Given the description of an element on the screen output the (x, y) to click on. 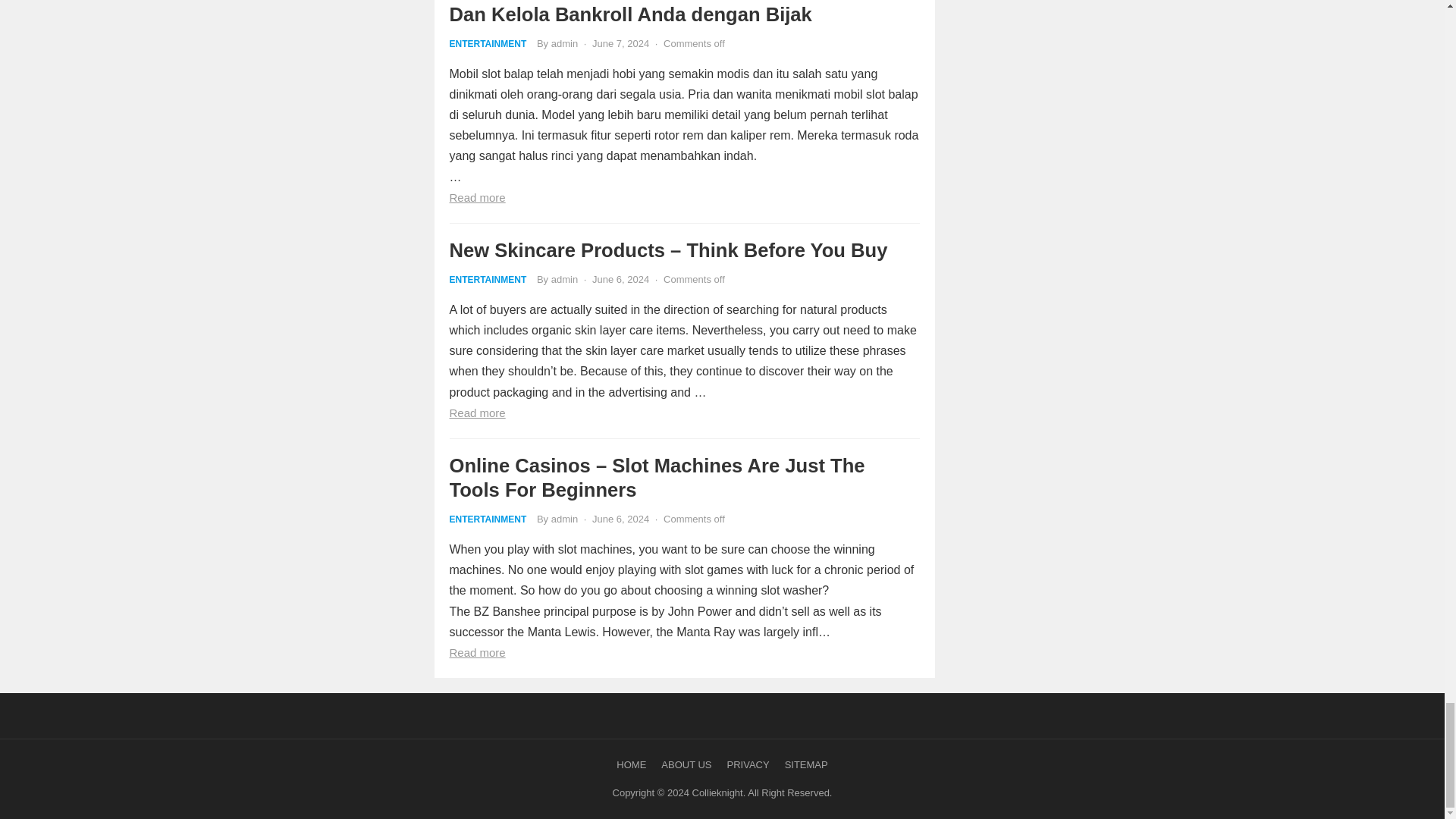
Posts by admin (564, 518)
Posts by admin (564, 279)
Posts by admin (564, 43)
